Given the description of an element on the screen output the (x, y) to click on. 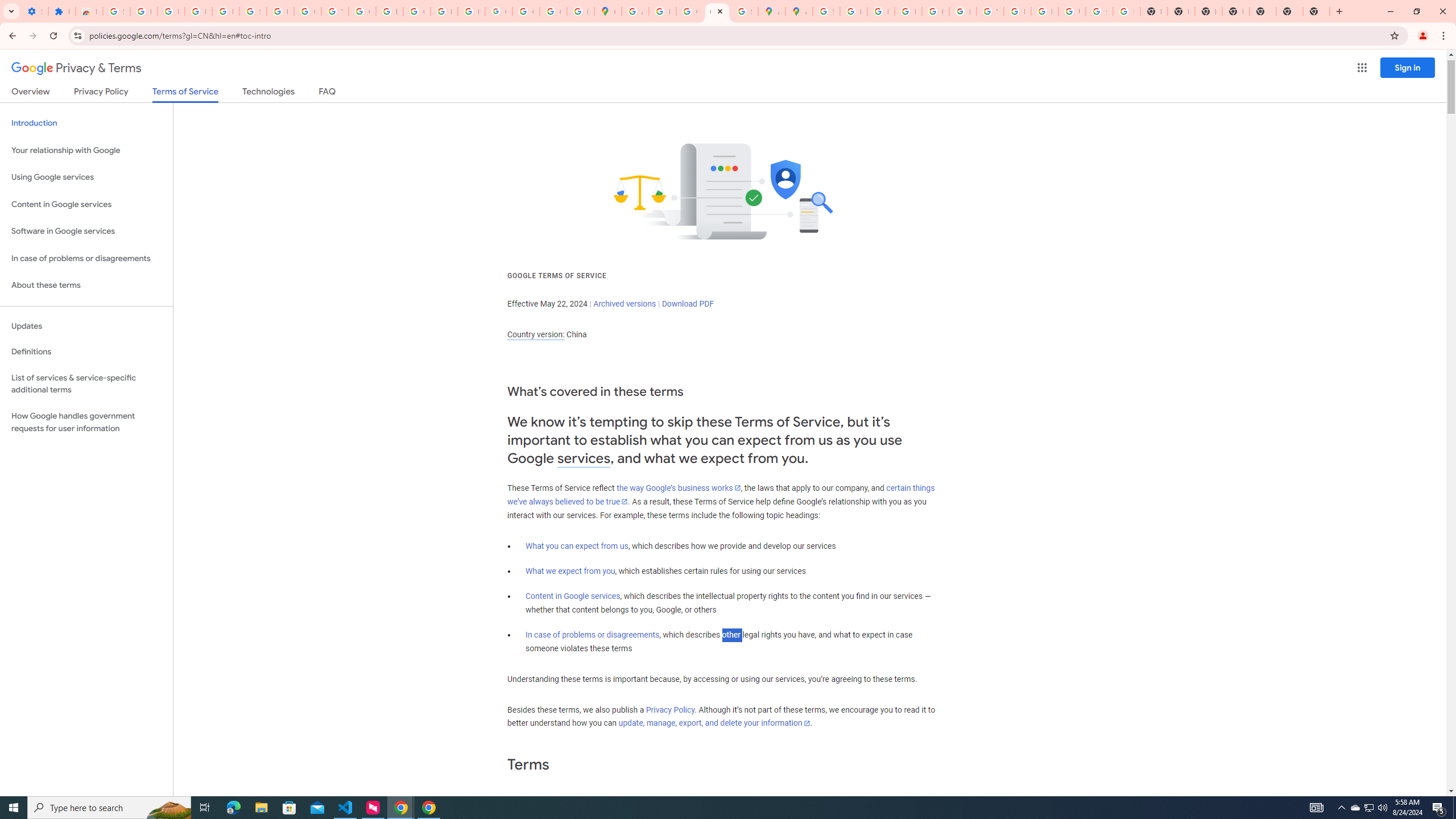
Browse Chrome as a guest - Computer - Google Chrome Help (1017, 11)
New Tab (1236, 11)
Download PDF (687, 303)
Extensions (61, 11)
Introduction (86, 122)
In case of problems or disagreements (592, 634)
Technologies (268, 93)
